Given the description of an element on the screen output the (x, y) to click on. 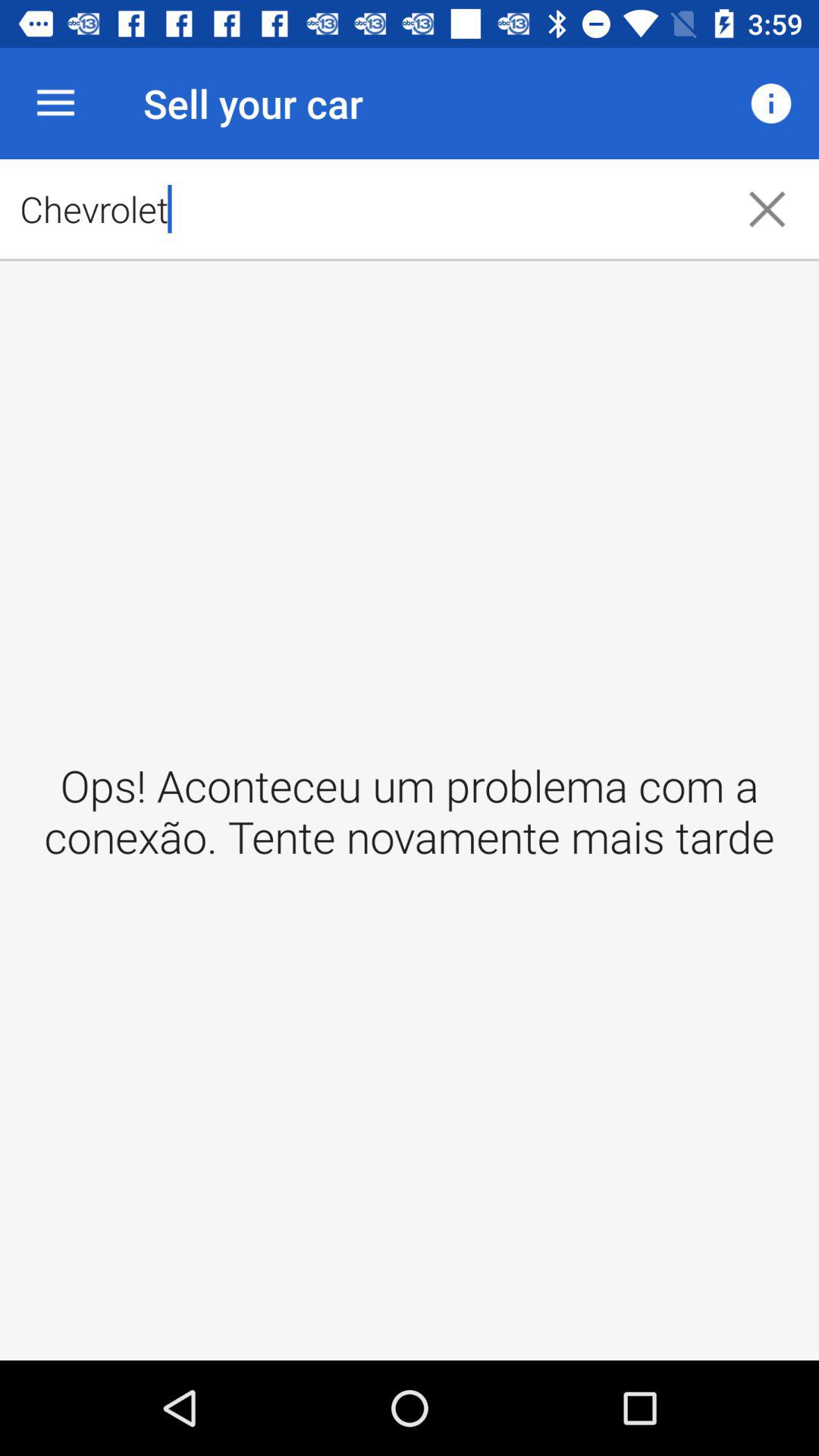
open item next to the chevrolet (771, 103)
